Given the description of an element on the screen output the (x, y) to click on. 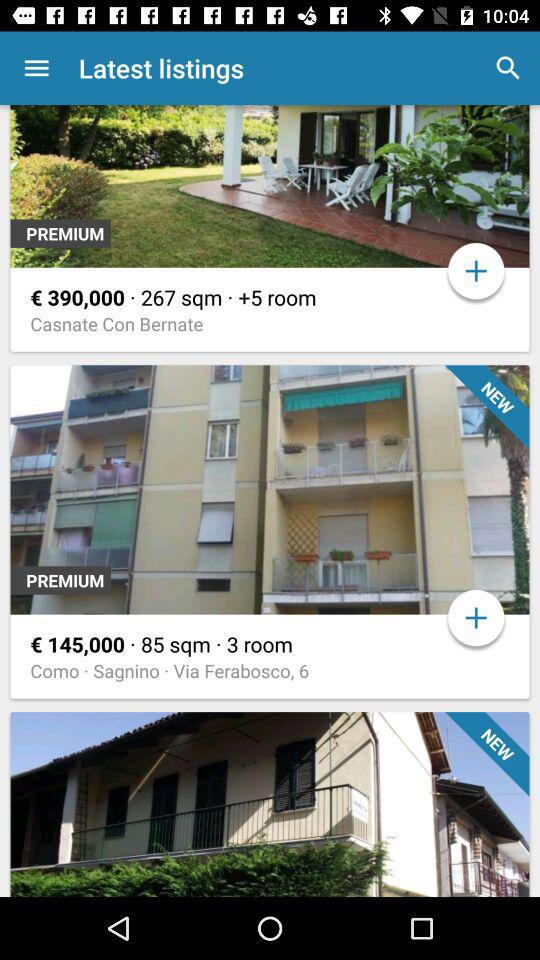
launch app next to the latest listings app (36, 68)
